Given the description of an element on the screen output the (x, y) to click on. 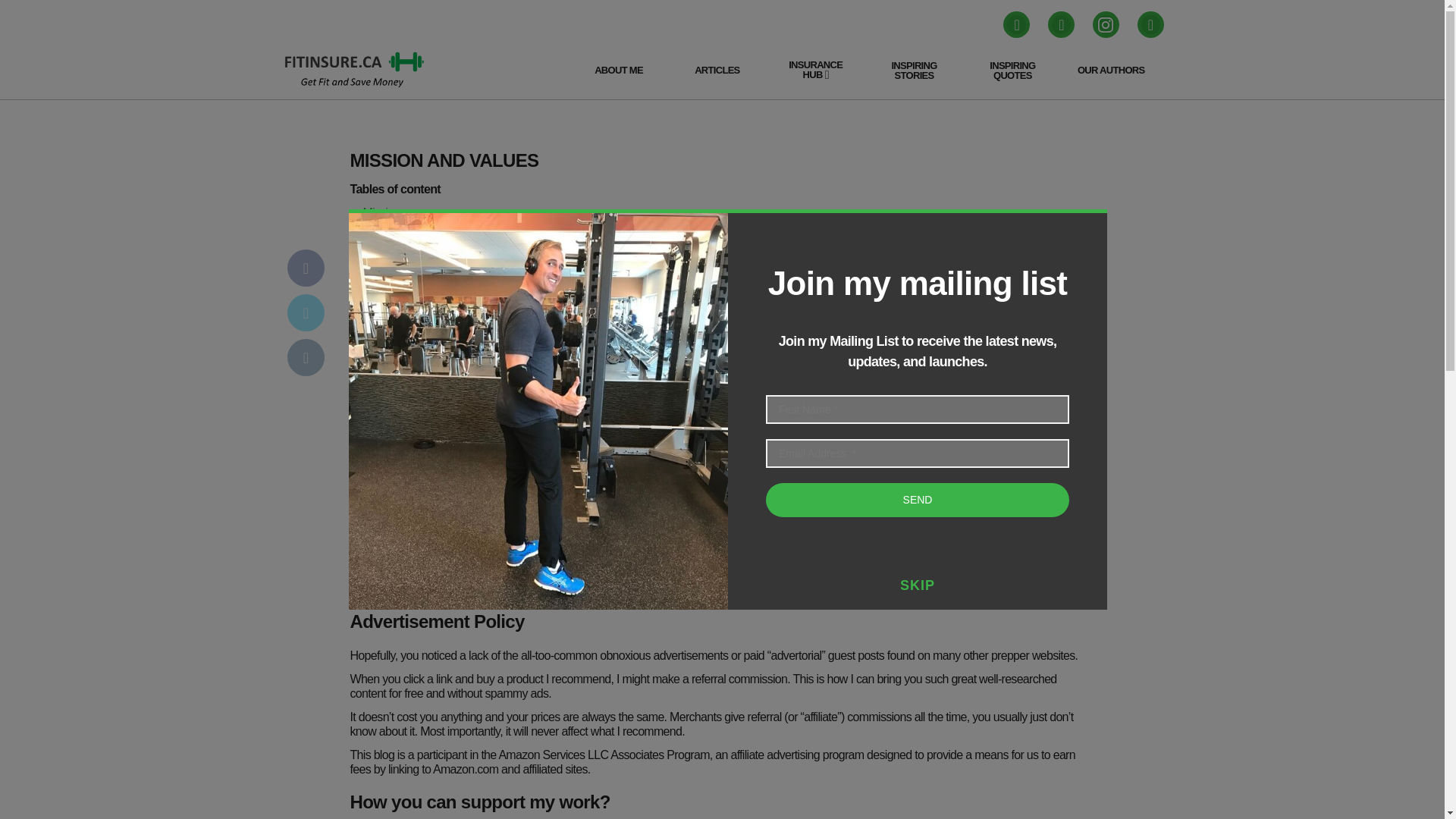
Share on Twitter (304, 312)
INSPIRING QUOTES (1012, 70)
Contact information for complaints or concerns (475, 284)
Advertisement Policy (413, 241)
INSPIRING STORIES (914, 70)
Share on LinkedIn (304, 357)
OUR AUTHORS (1111, 70)
INSURANCE HUB (815, 69)
Mission (380, 212)
ABOUT ME (619, 70)
Why can you trust me and Fit After 45 Blog? (469, 269)
ARTICLES (716, 70)
Share on Facebook (304, 267)
Values (379, 226)
How can you support my work? (439, 255)
